Given the description of an element on the screen output the (x, y) to click on. 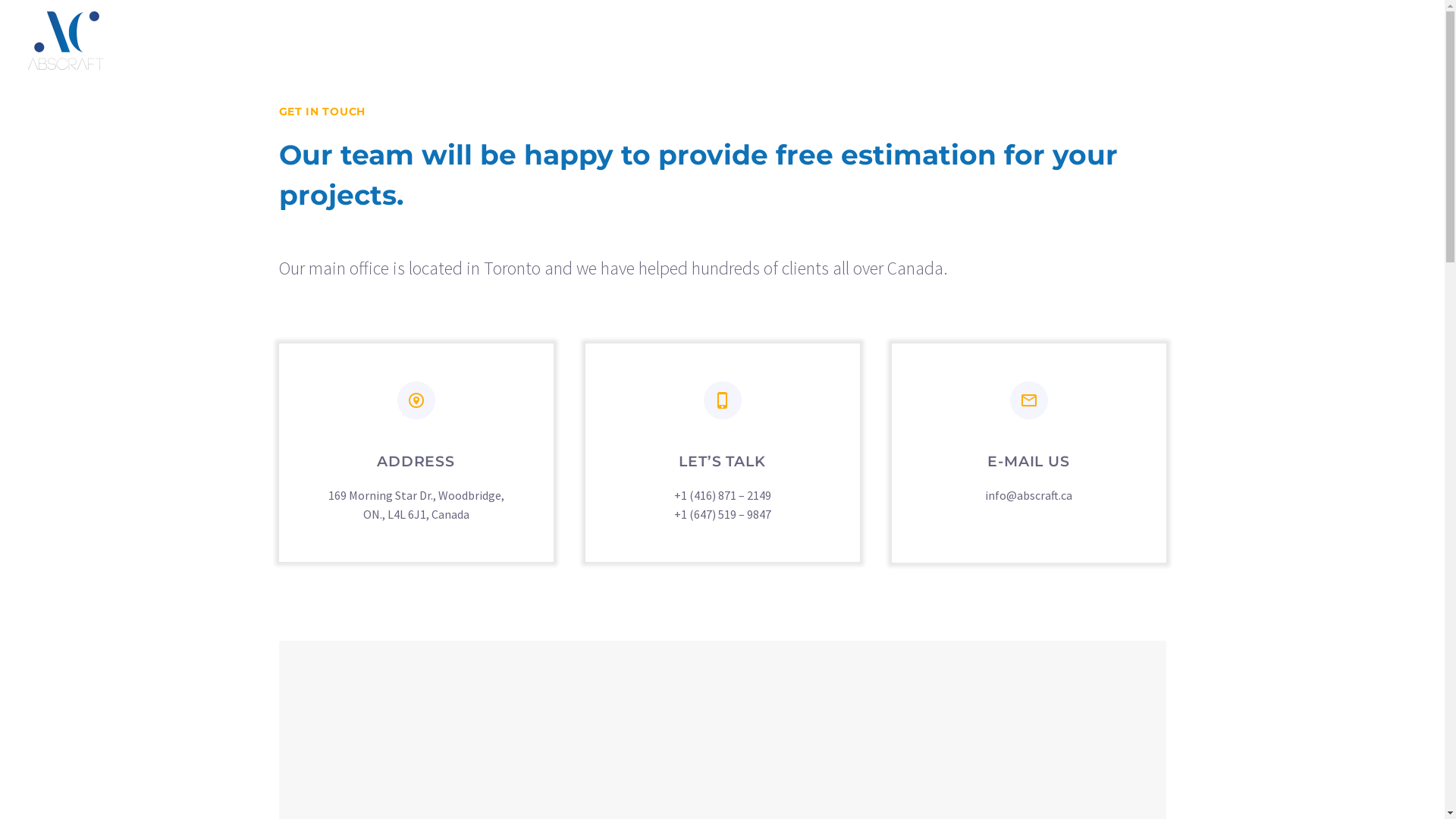
Primary Menu Element type: text (1402, 39)
